Given the description of an element on the screen output the (x, y) to click on. 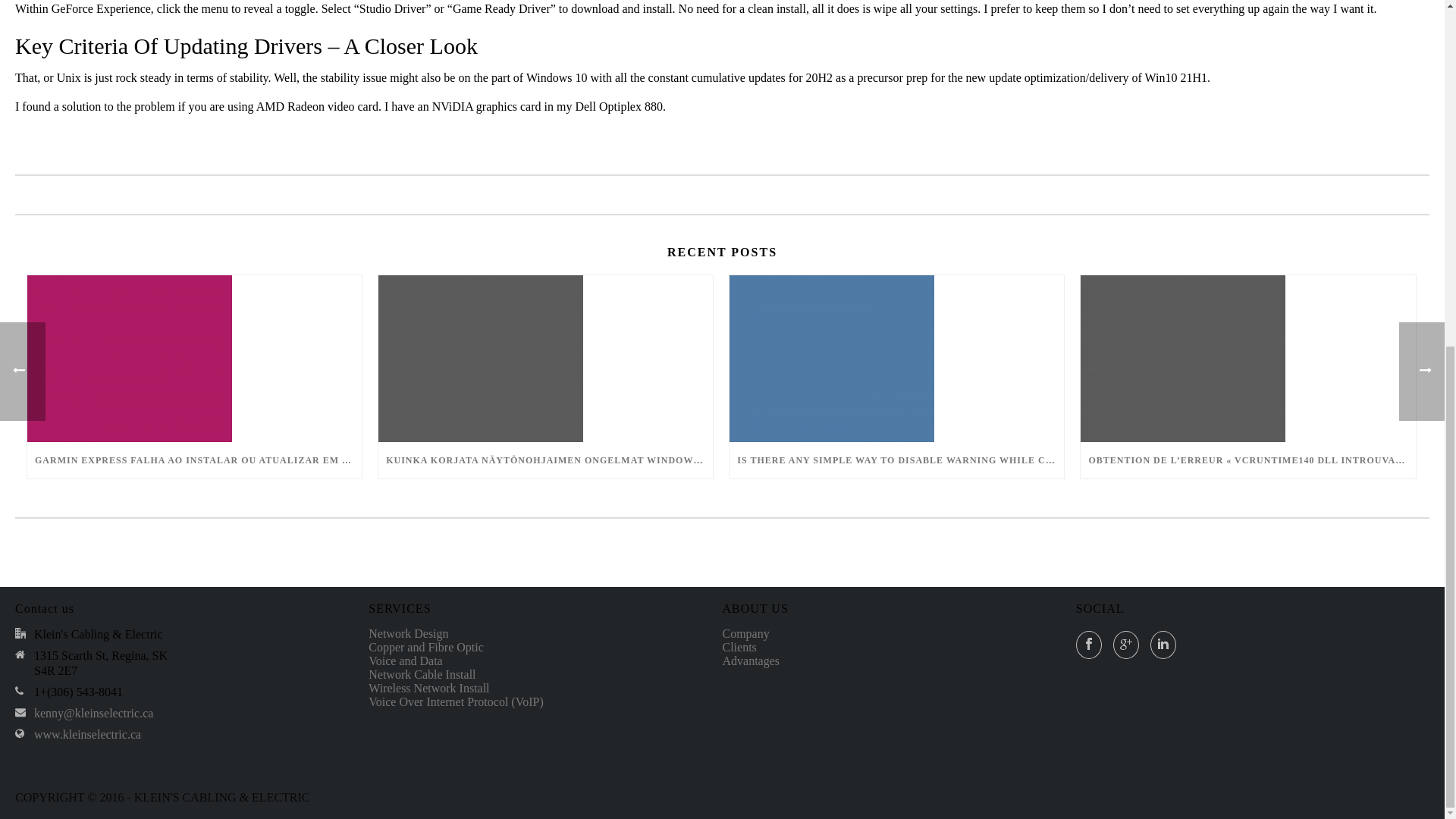
Copper and Fibre Optic (425, 646)
 facebook (1088, 644)
Company (745, 633)
 linkedin (1163, 644)
 googleplus (1125, 644)
www.kleinselectric.ca (87, 735)
Network Cable Install (422, 674)
Voice and Data (405, 660)
Advantages (750, 660)
Network Design (408, 633)
Wireless Network Install (428, 687)
